Given the description of an element on the screen output the (x, y) to click on. 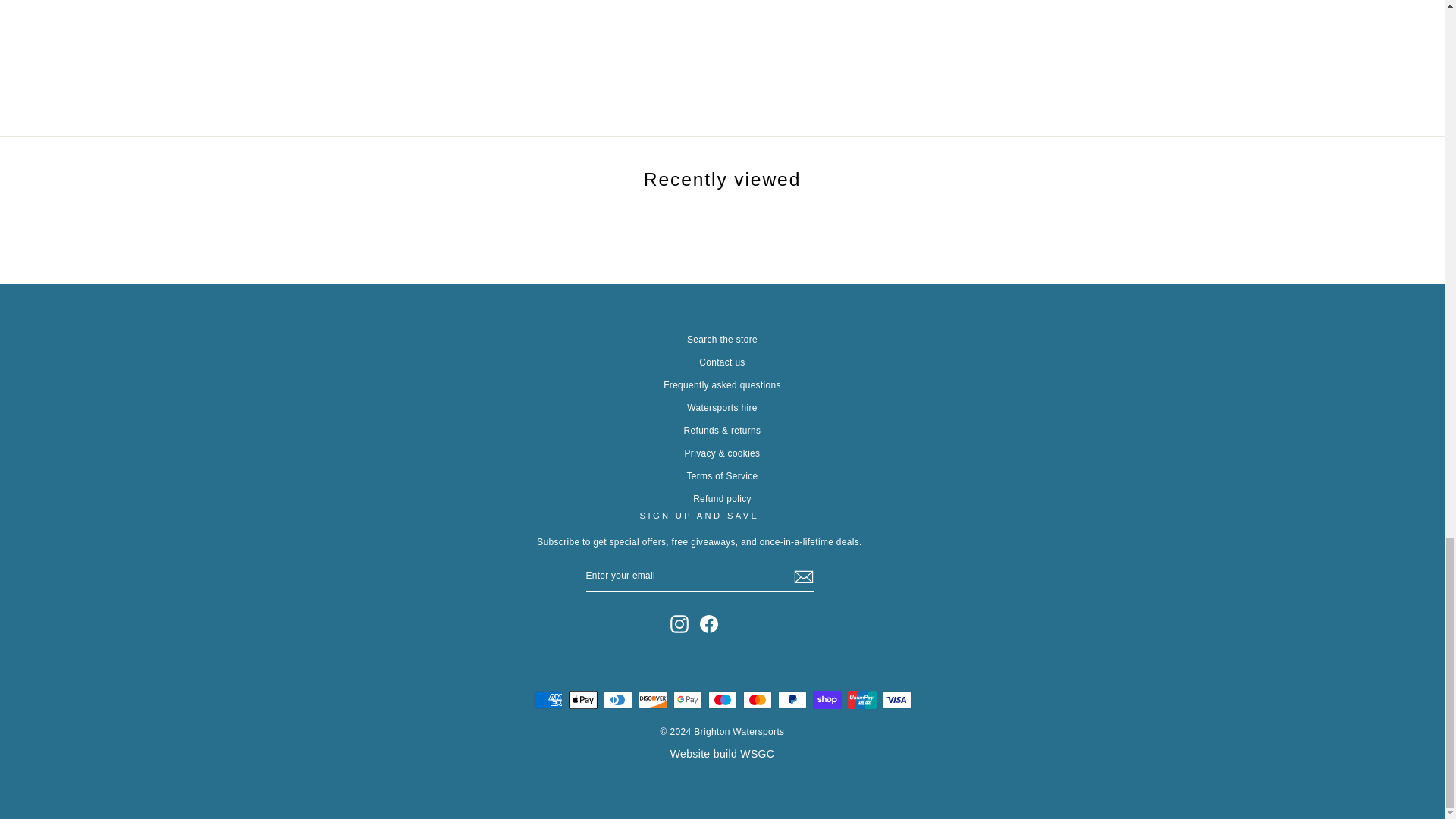
instagram (678, 624)
Google Pay (686, 700)
Apple Pay (582, 700)
icon-email (802, 577)
Diners Club (617, 700)
American Express (548, 700)
Brighton Watersports on Facebook (707, 624)
Brighton Watersports on Instagram (678, 624)
Discover (652, 700)
